Given the description of an element on the screen output the (x, y) to click on. 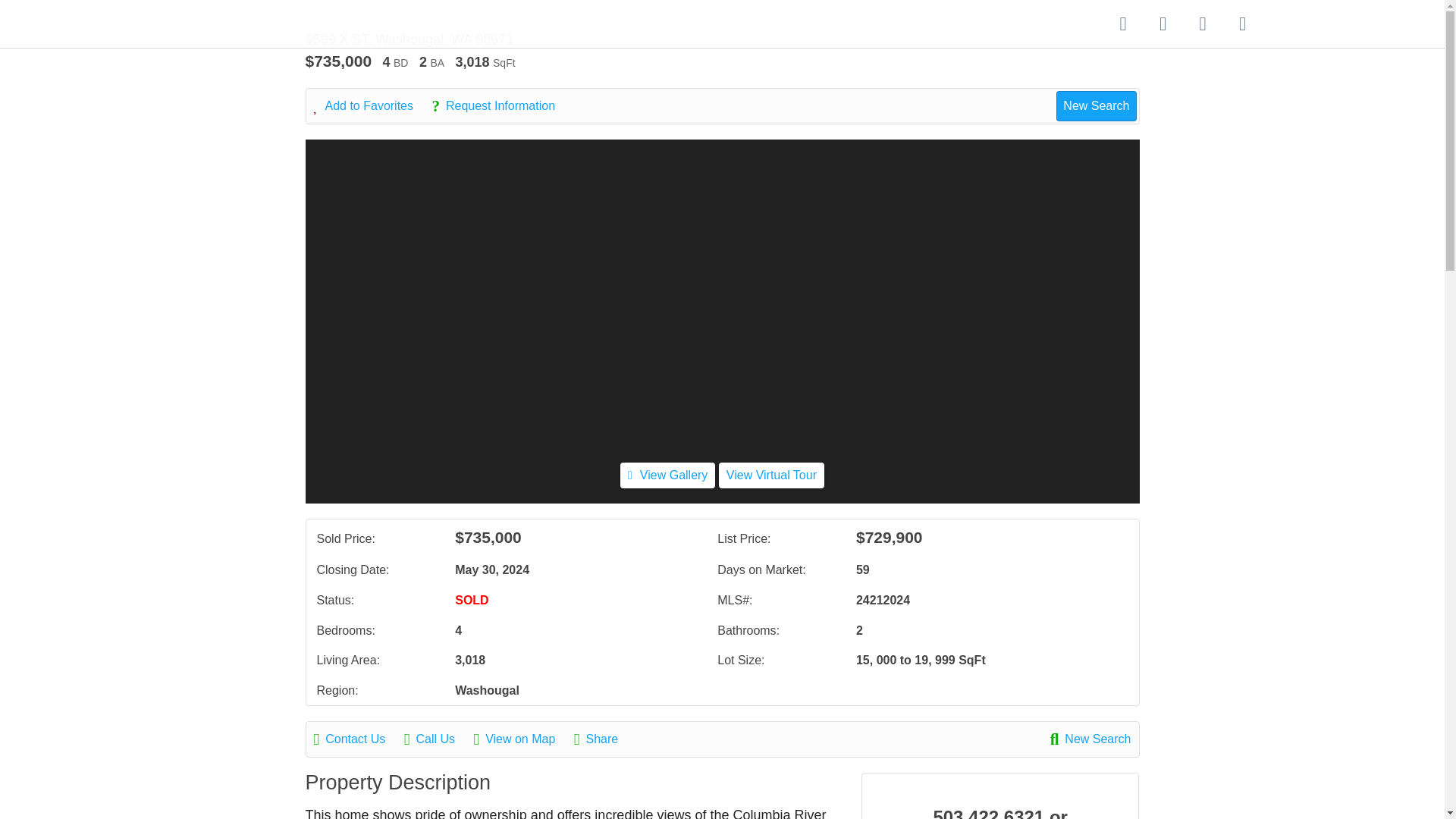
New Search (1090, 739)
Call Us (437, 739)
View on Map (521, 739)
New Search (1096, 105)
Add to Favorites (371, 106)
View Virtual Tour (771, 475)
View Gallery (667, 475)
Contact Us (357, 739)
503.422.6321 or 360.608.8003 (1000, 811)
View Virtual Tour (771, 474)
Share (603, 739)
Request Information (500, 106)
View Gallery (667, 474)
